Given the description of an element on the screen output the (x, y) to click on. 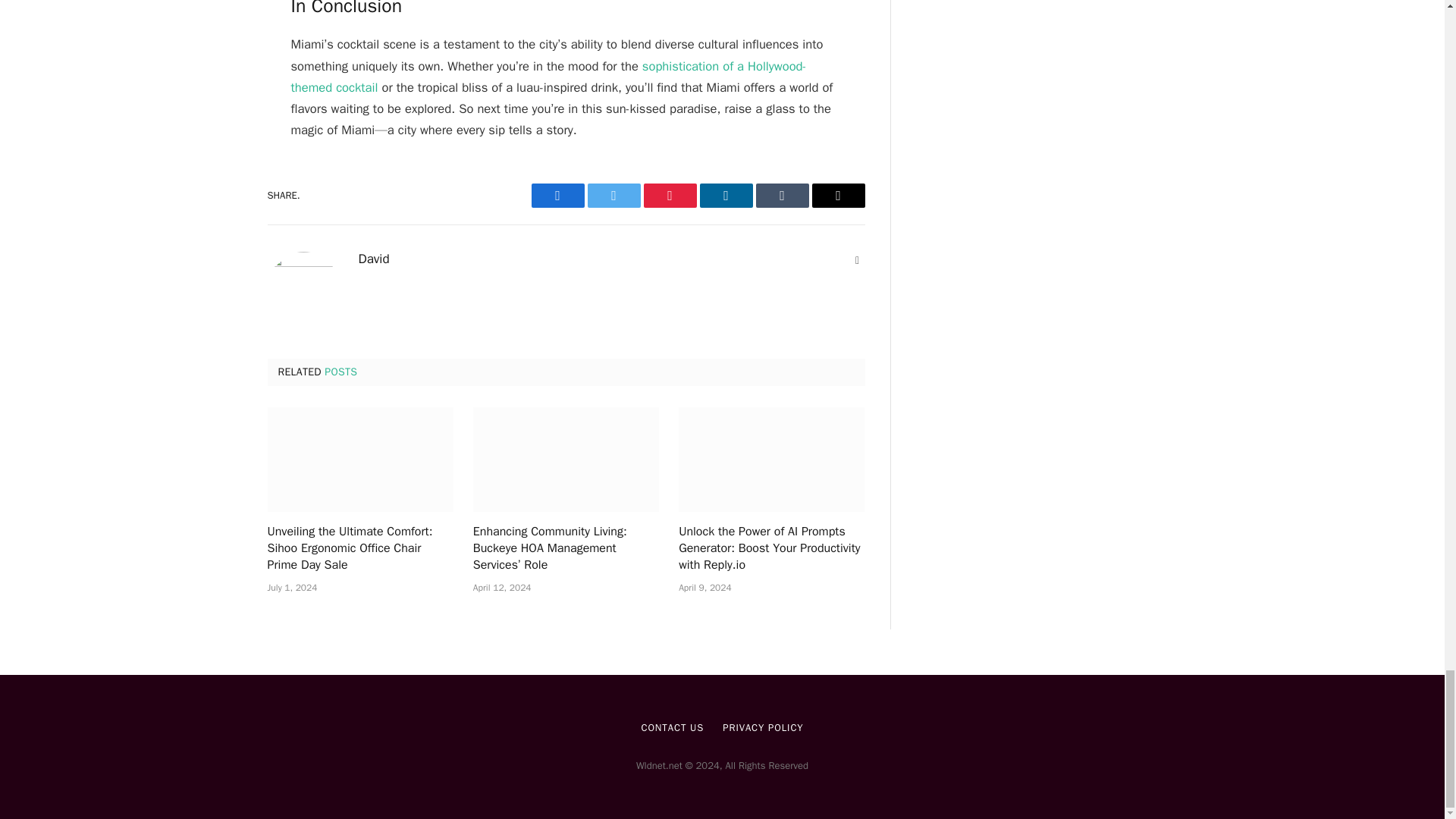
sophistication of a Hollywood-themed cocktail (548, 76)
Facebook (557, 195)
Twitter (613, 195)
